Given the description of an element on the screen output the (x, y) to click on. 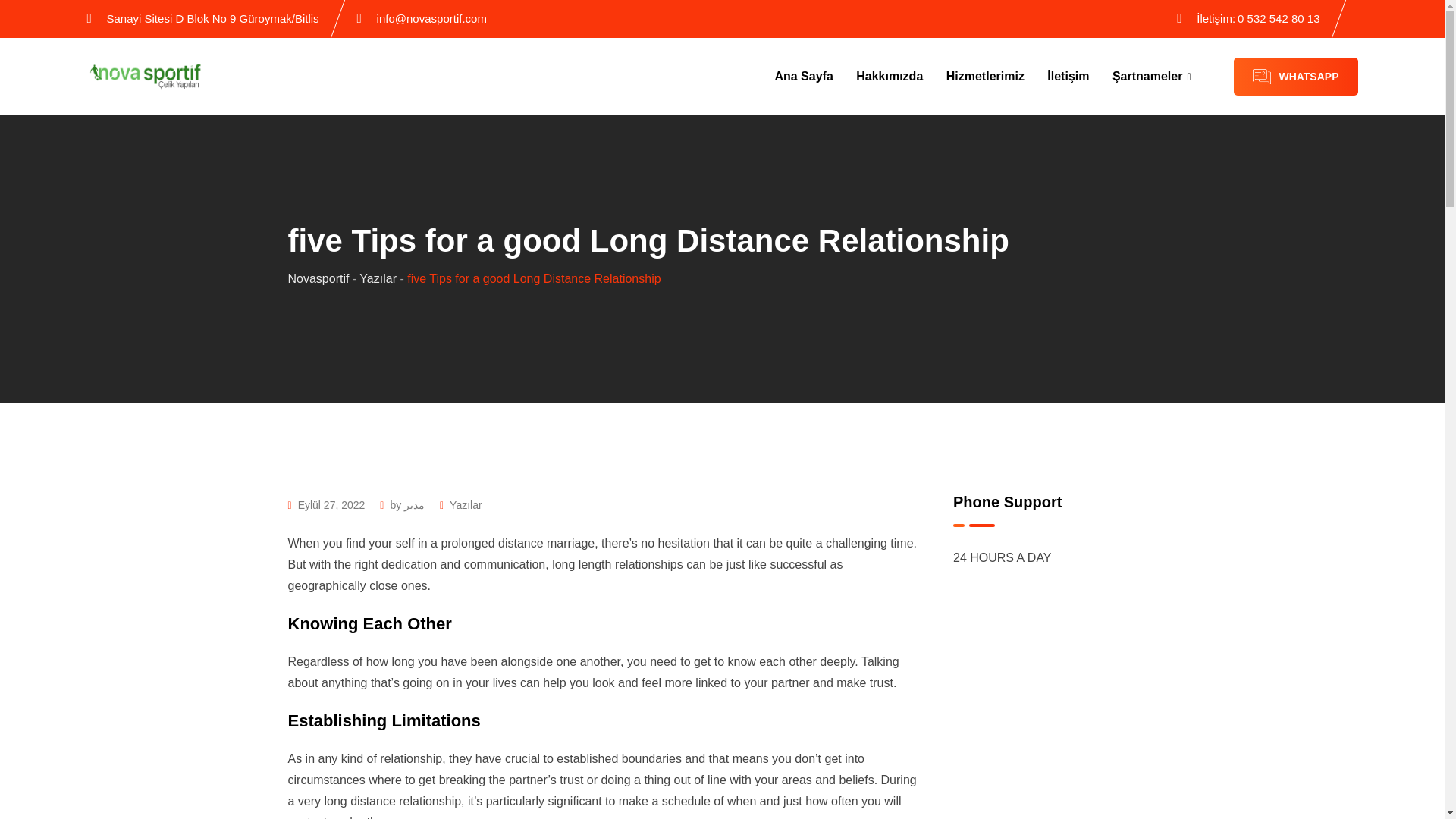
Ana Sayfa (803, 76)
Go to Novasportif. (318, 278)
Novasportif (318, 278)
Hizmetlerimiz (984, 76)
0 532 542 80 13 (1278, 18)
WHATSAPP (1294, 76)
